Given the description of an element on the screen output the (x, y) to click on. 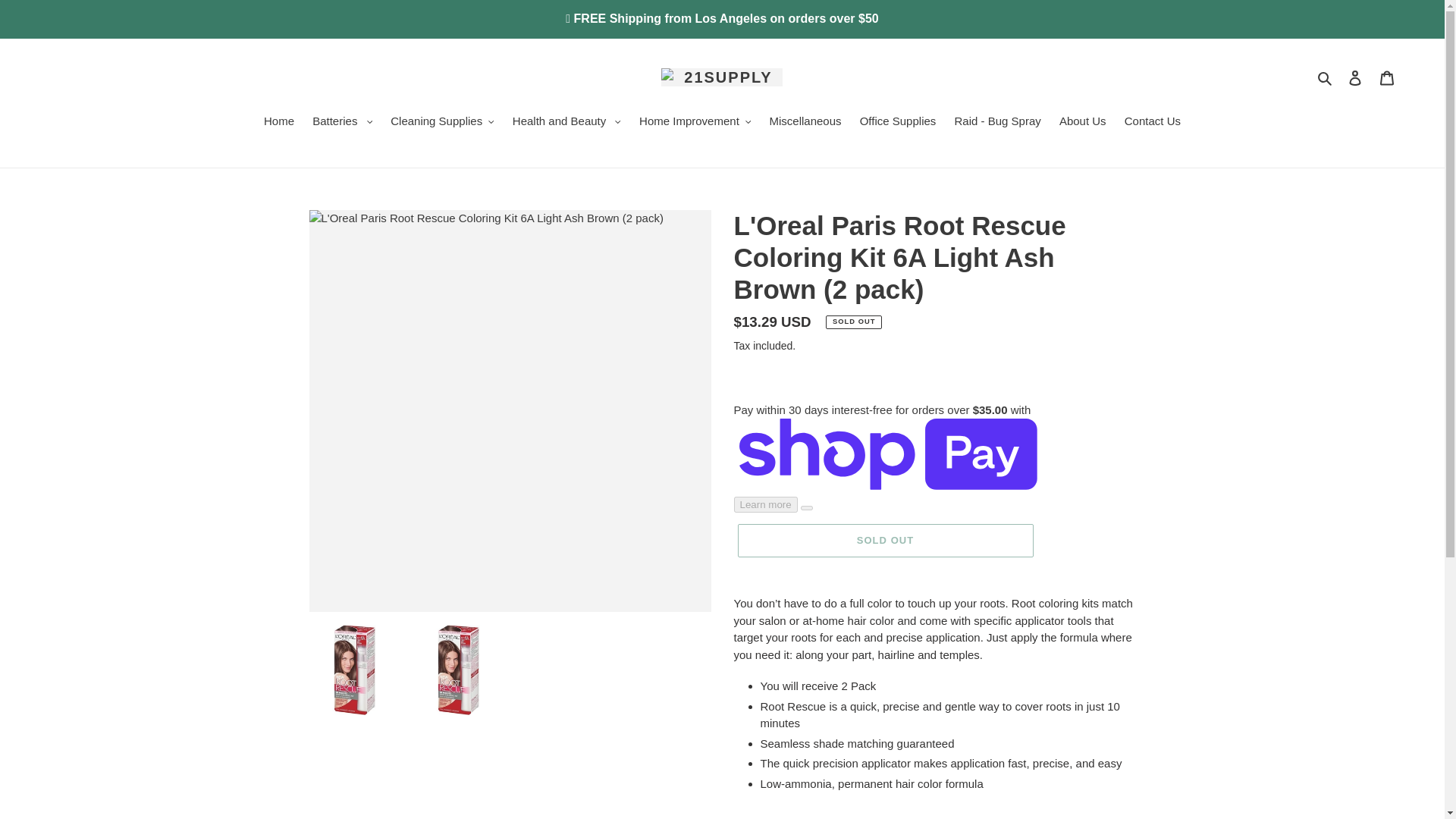
Log in (1355, 77)
Cart (1387, 77)
Search (1326, 76)
